Given the description of an element on the screen output the (x, y) to click on. 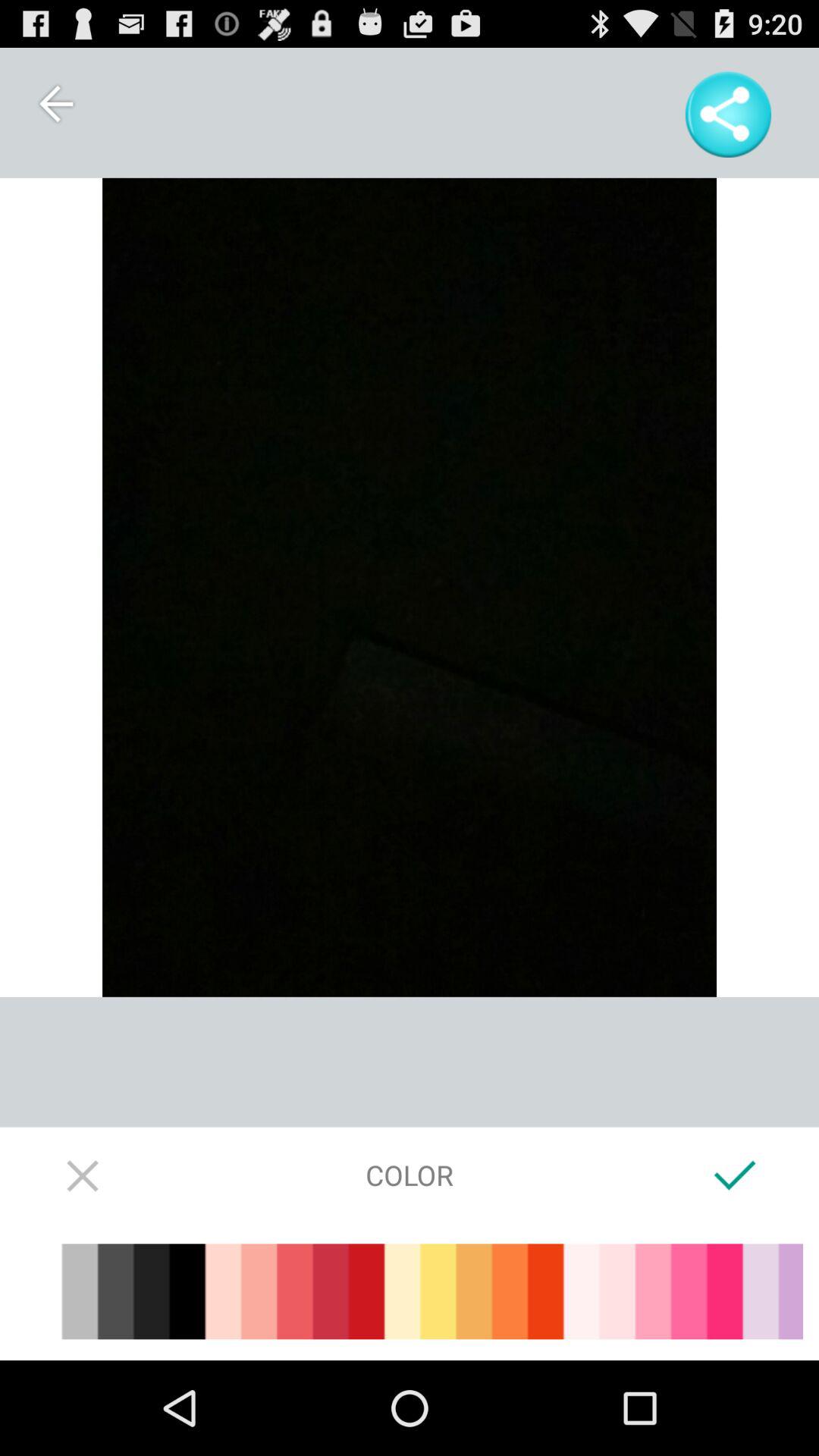
close color selection screen (83, 1174)
